Given the description of an element on the screen output the (x, y) to click on. 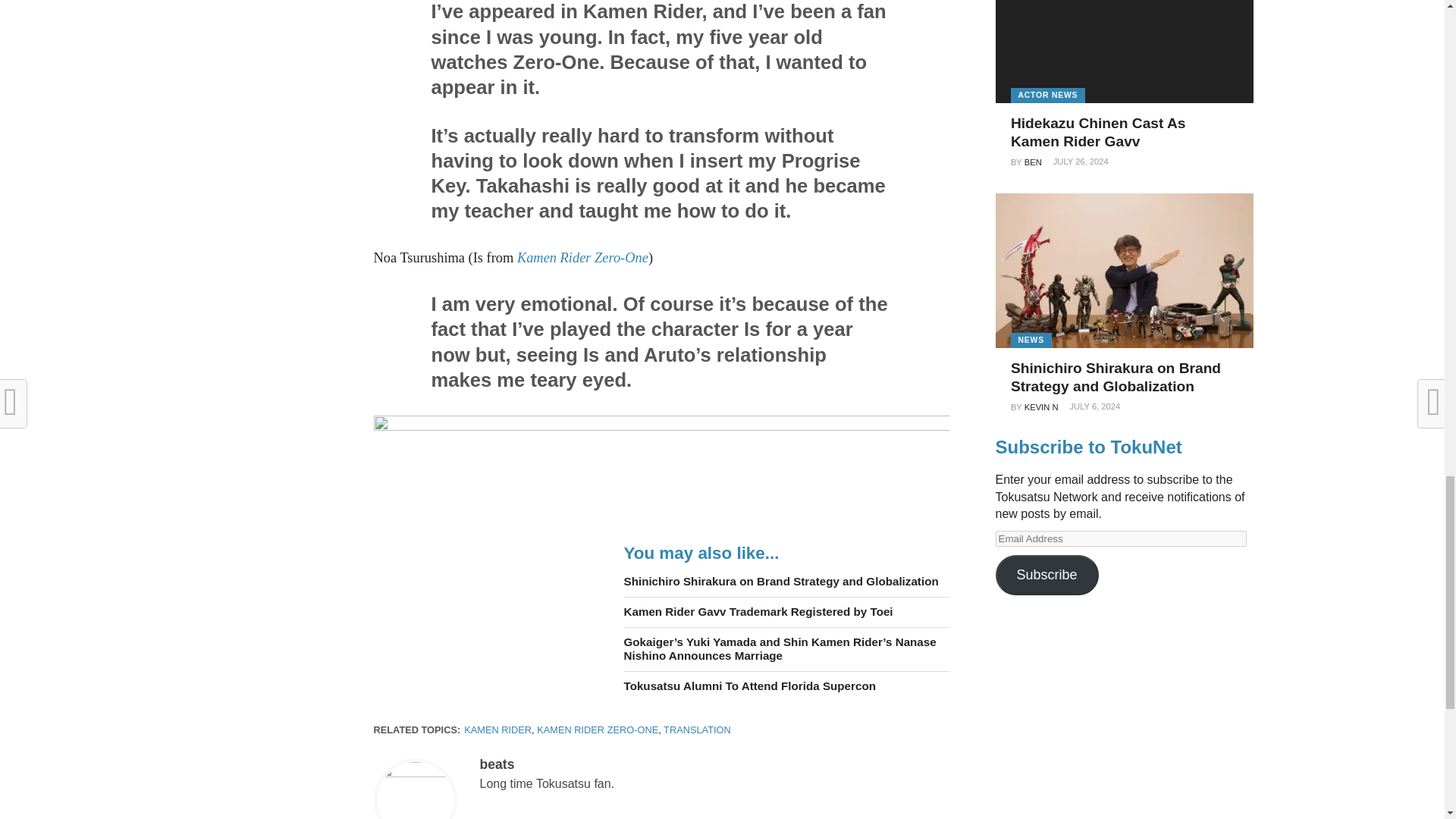
Posts by beats (496, 764)
